Given the description of an element on the screen output the (x, y) to click on. 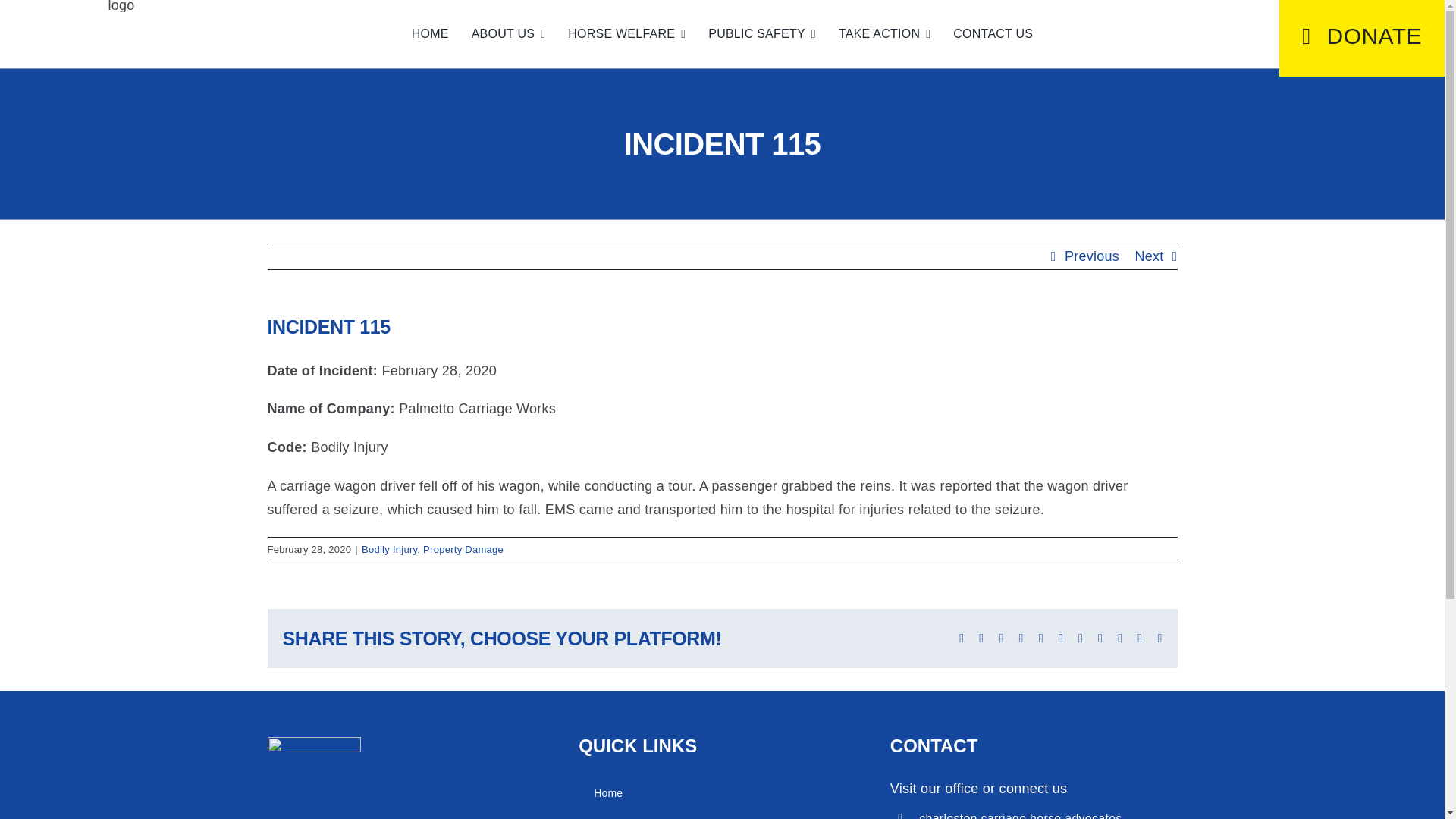
HOME (430, 34)
CONTACT US (992, 34)
PUBLIC SAFETY (762, 34)
HORSE WELFARE (626, 34)
ABOUT US (508, 34)
TAKE ACTION (884, 34)
